Given the description of an element on the screen output the (x, y) to click on. 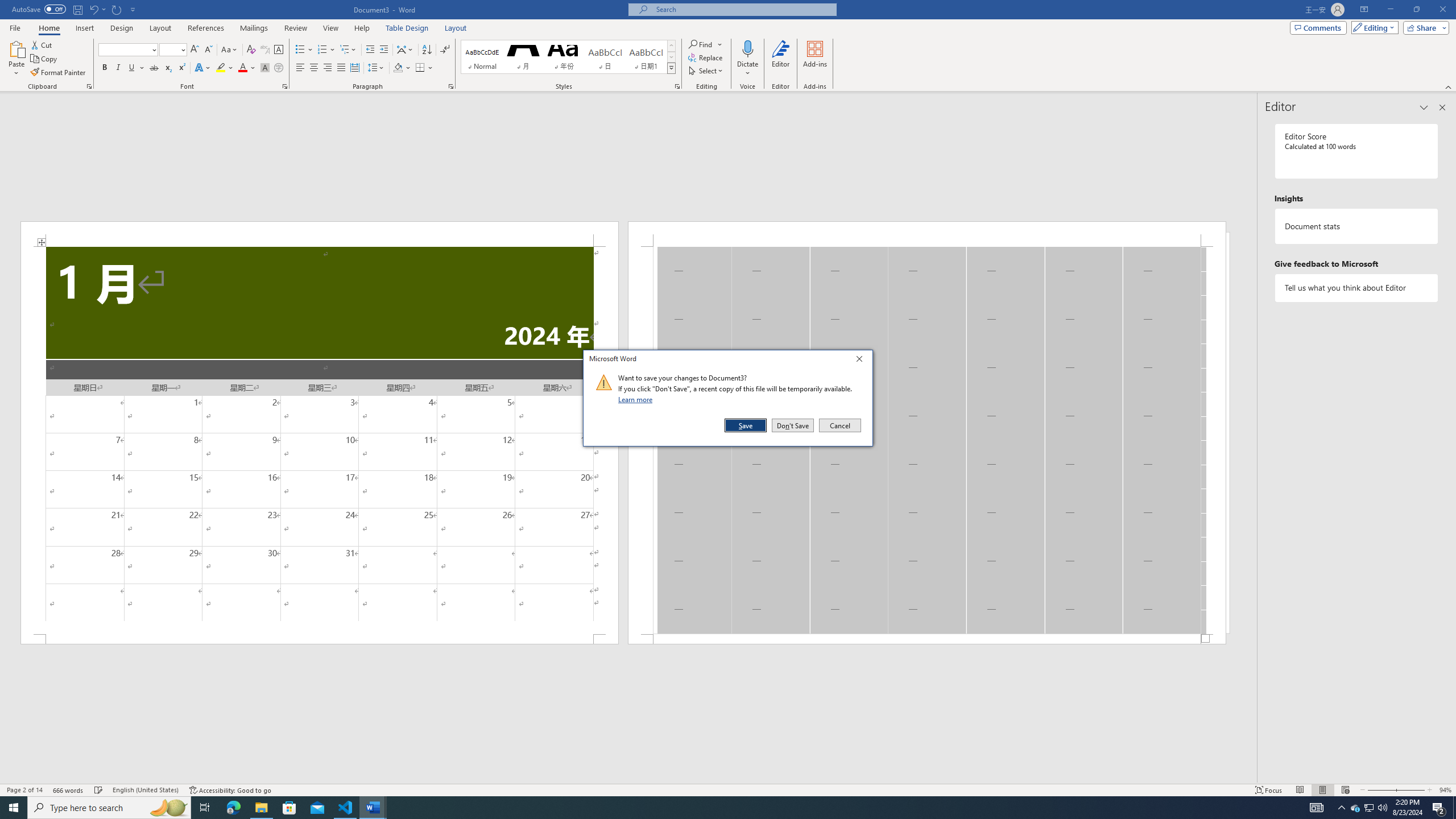
Font Color RGB(255, 0, 0) (241, 67)
